Given the description of an element on the screen output the (x, y) to click on. 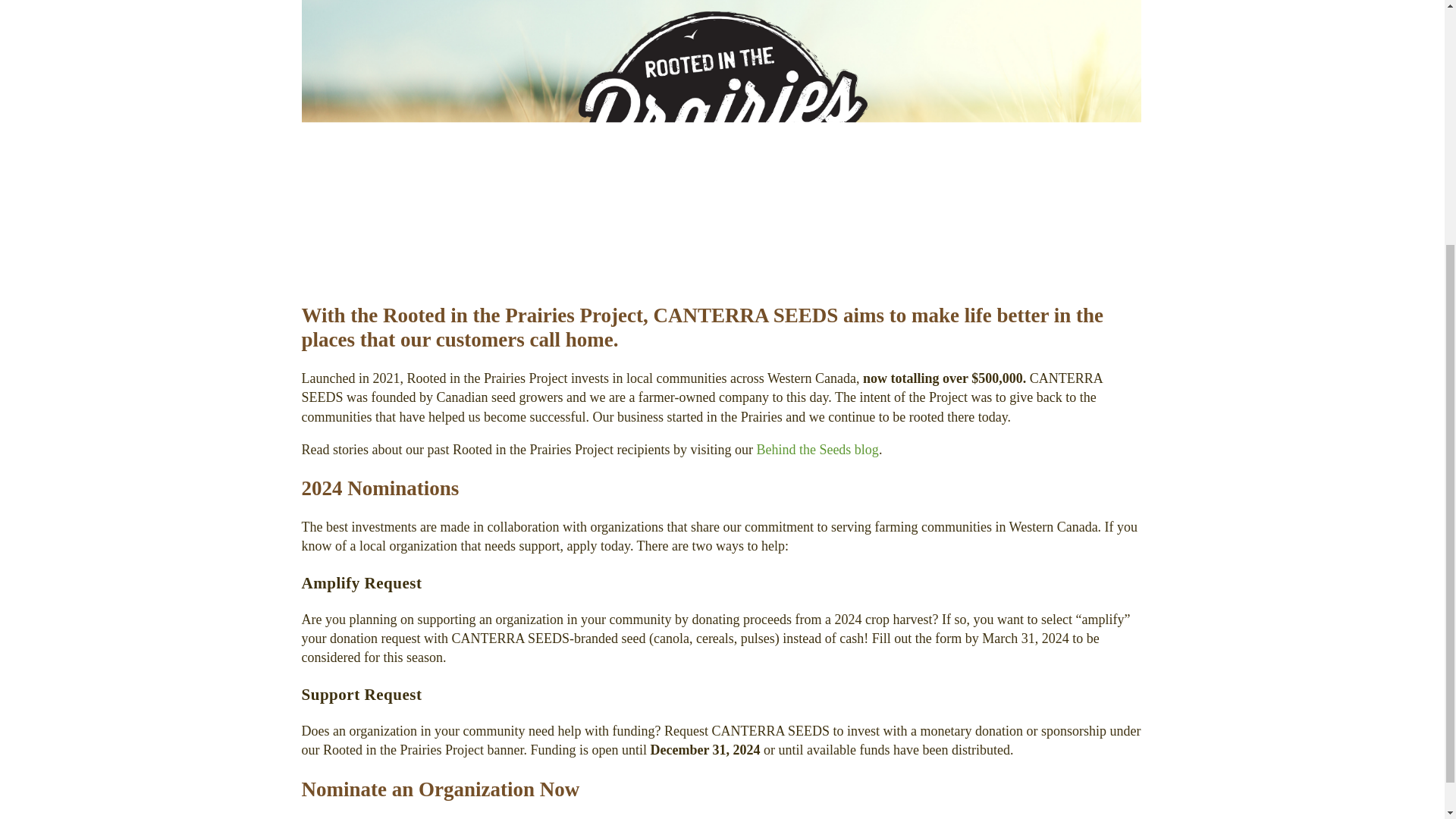
Behind the Seeds blog (816, 449)
